Given the description of an element on the screen output the (x, y) to click on. 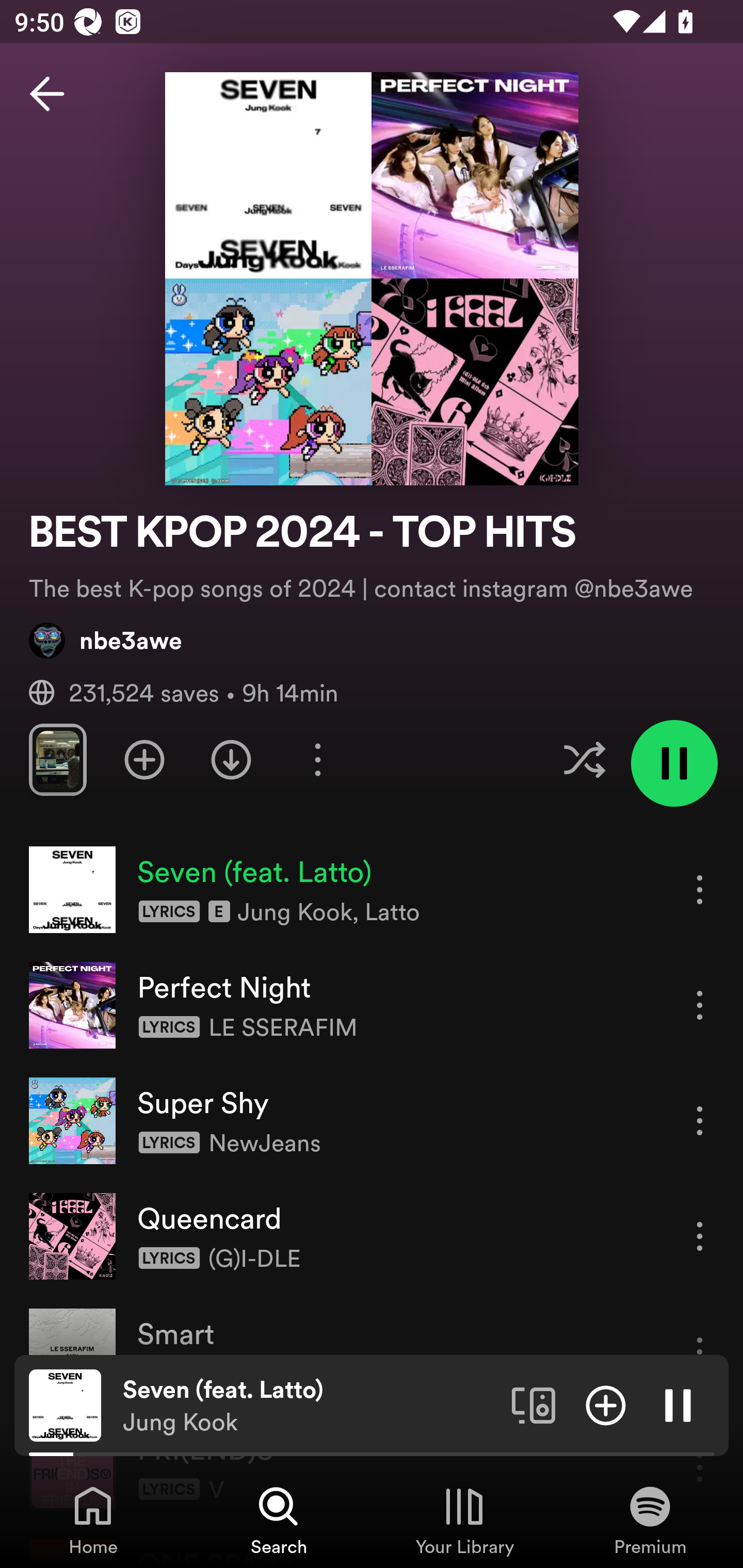
Back (46, 93)
nbe3awe (105, 640)
Swipe through previews of tracks in this playlist. (57, 759)
Add playlist to Your Library (144, 759)
Download (230, 759)
Enable shuffle for this playlist (583, 759)
Pause playlist (674, 763)
More options for song Seven (feat. Latto) (699, 889)
More options for song Perfect Night (699, 1004)
More options for song Super Shy (699, 1120)
More options for song Queencard (699, 1236)
Seven (feat. Latto) Jung Kook (309, 1405)
The cover art of the currently playing track (64, 1404)
Connect to a device. Opens the devices menu (533, 1404)
Add item (605, 1404)
Pause (677, 1404)
Home, Tab 1 of 4 Home Home (92, 1519)
Search, Tab 2 of 4 Search Search (278, 1519)
Your Library, Tab 3 of 4 Your Library Your Library (464, 1519)
Premium, Tab 4 of 4 Premium Premium (650, 1519)
